Given the description of an element on the screen output the (x, y) to click on. 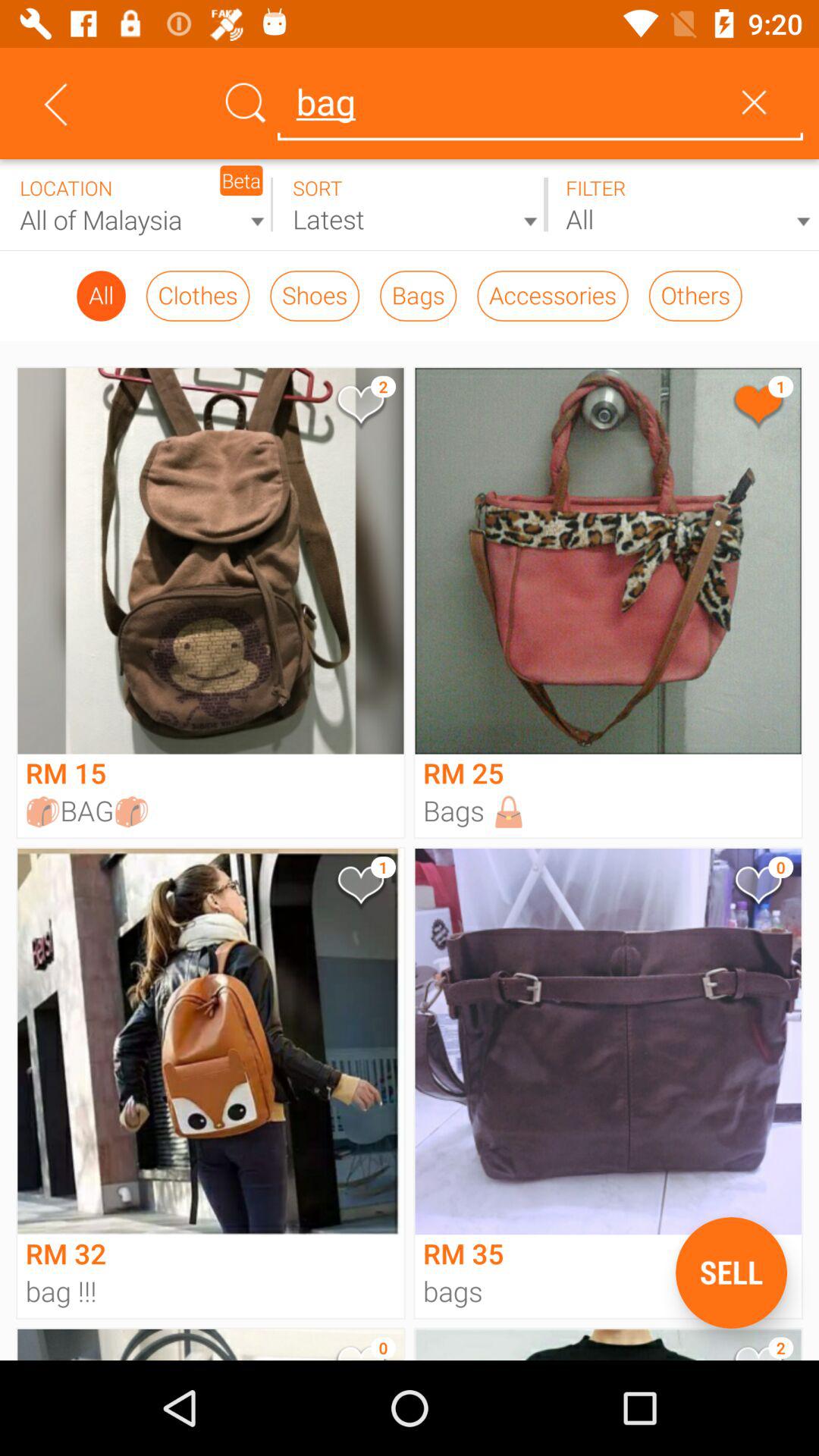
bag rm25 (757, 407)
